Given the description of an element on the screen output the (x, y) to click on. 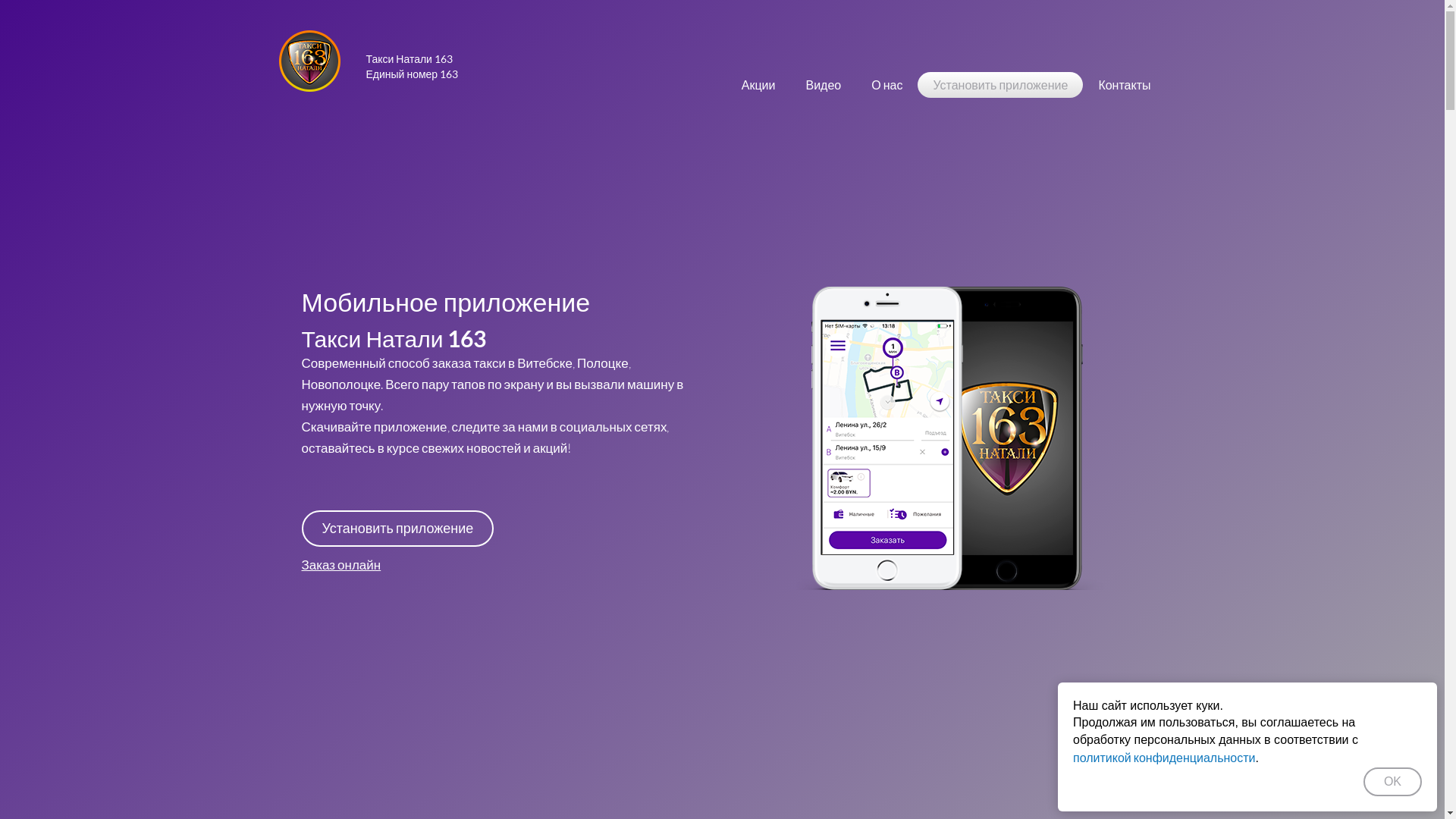
OK Element type: text (1392, 781)
